Given the description of an element on the screen output the (x, y) to click on. 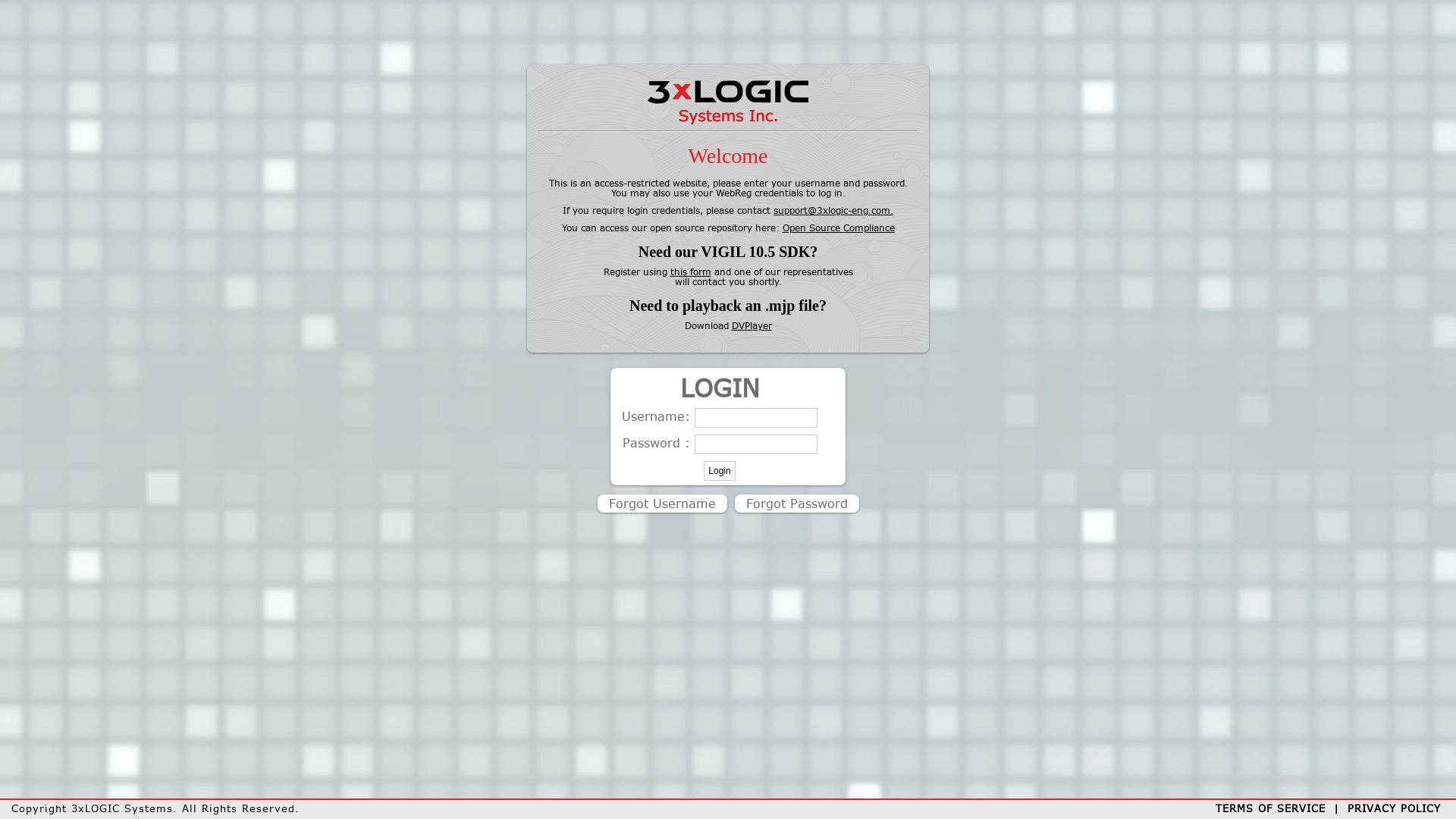
Forgot Password Element type: text (796, 503)
Open Source Compliance Element type: text (838, 227)
support@3xlogic-eng.com. Element type: text (833, 209)
DVPlayer Element type: text (751, 325)
Login Element type: text (718, 470)
Forgot Username Element type: text (662, 503)
this form Element type: text (690, 271)
